Given the description of an element on the screen output the (x, y) to click on. 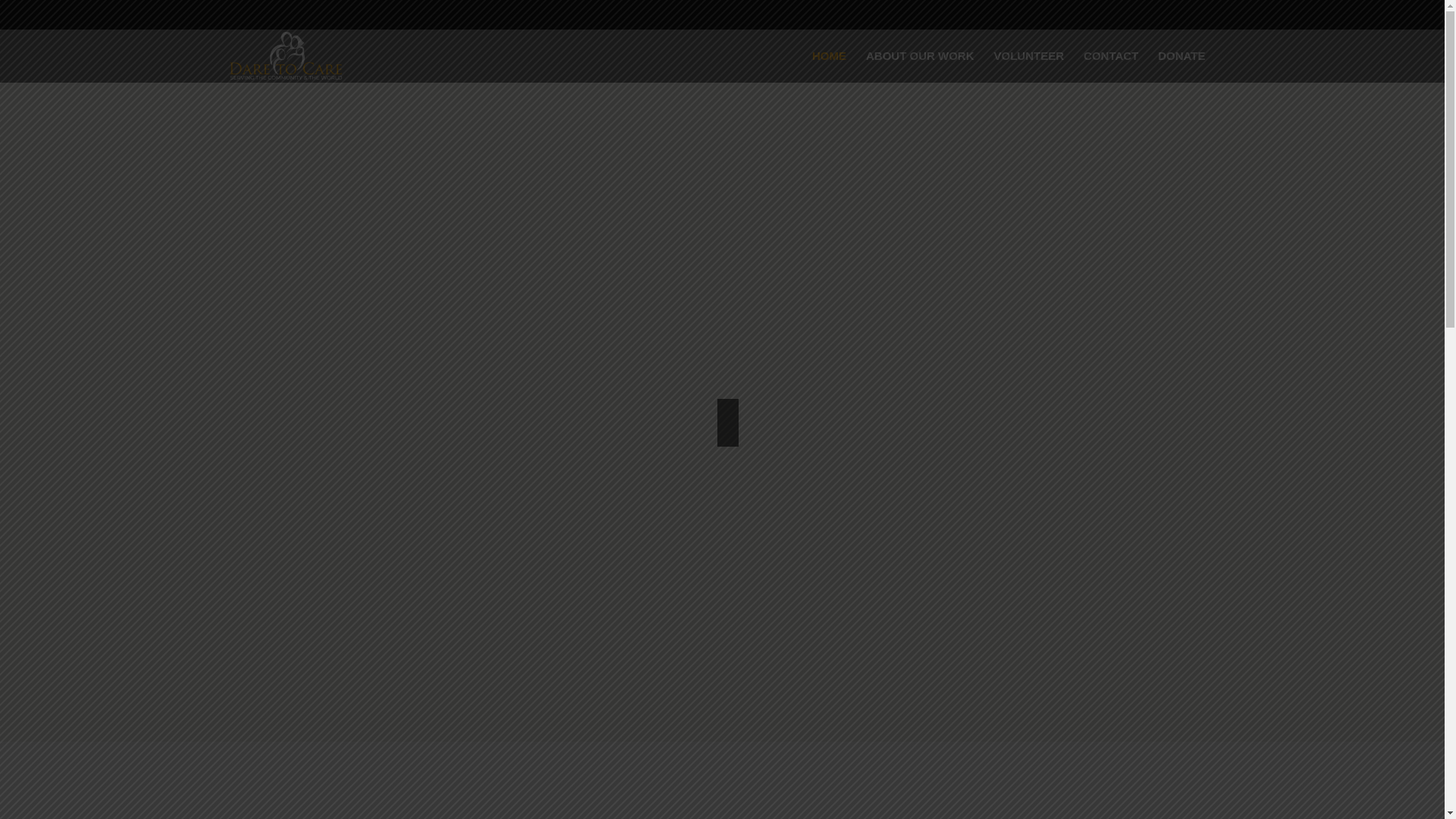
DONATE (1181, 55)
ABOUT OUR WORK (920, 55)
HOME (829, 55)
VOLUNTEER (1029, 55)
CONTACT (1111, 55)
